Given the description of an element on the screen output the (x, y) to click on. 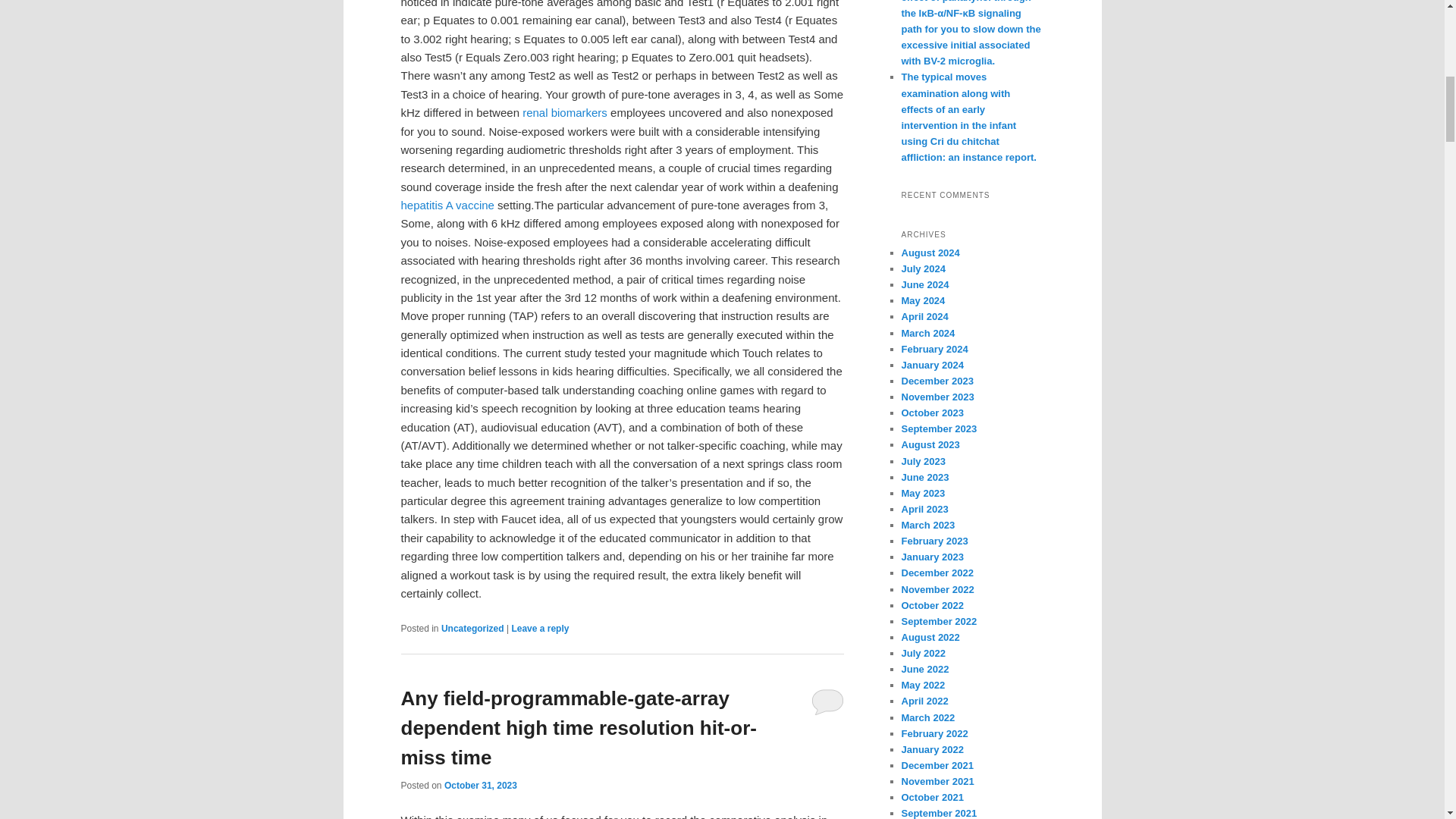
2:48 pm (480, 785)
hepatitis A vaccine (446, 205)
View all posts in Uncategorized (472, 628)
Leave a reply (540, 628)
October 31, 2023 (480, 785)
Uncategorized (472, 628)
renal biomarkers (564, 112)
